Given the description of an element on the screen output the (x, y) to click on. 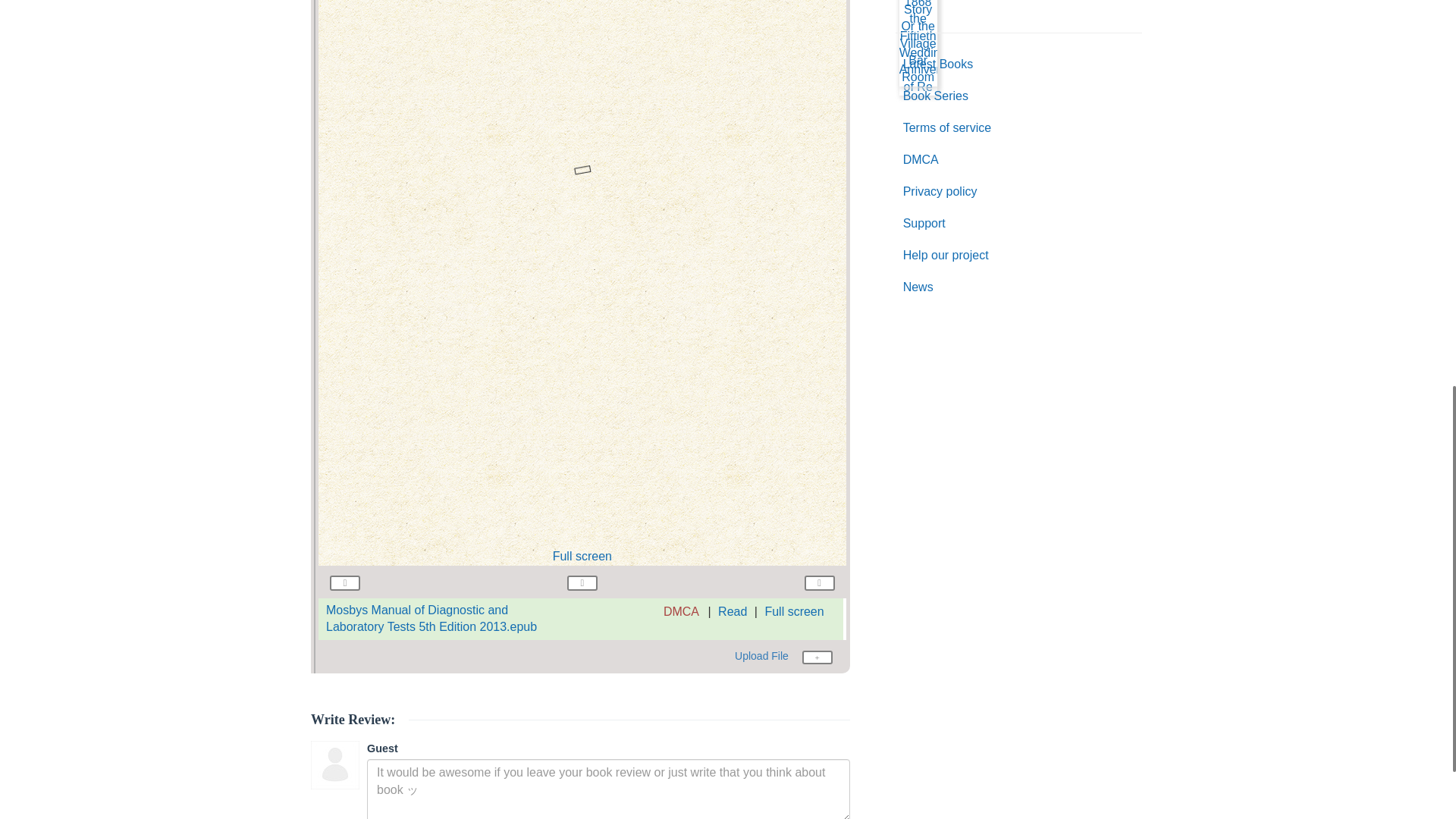
Read (731, 611)
Next page (819, 581)
Full screen (582, 555)
Full screen (794, 611)
DMCA (681, 611)
Upload File   (784, 656)
Click to read online (431, 618)
